Given the description of an element on the screen output the (x, y) to click on. 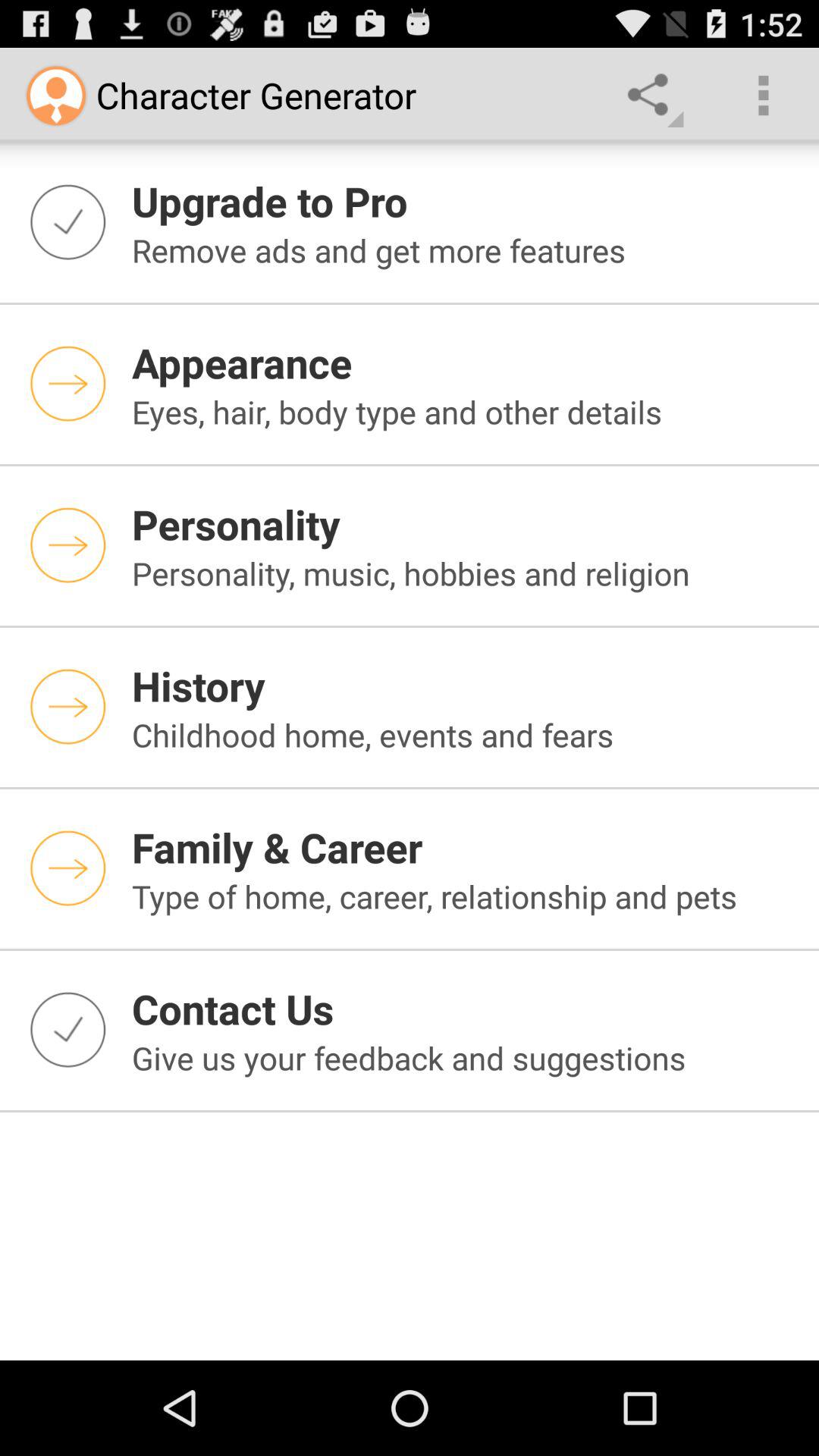
scroll to remove ads and icon (465, 249)
